Given the description of an element on the screen output the (x, y) to click on. 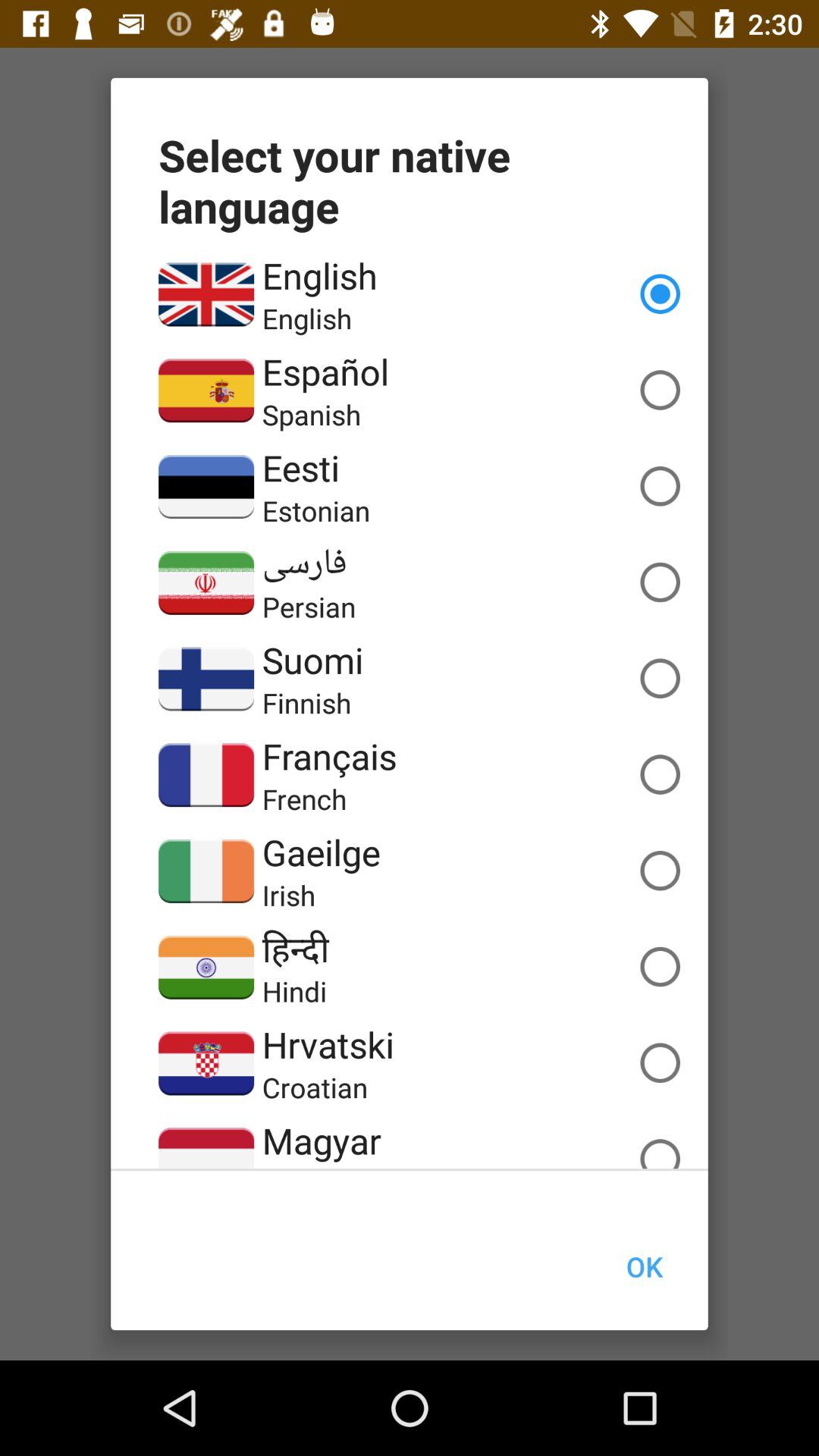
click the gaeilge icon (321, 852)
